Given the description of an element on the screen output the (x, y) to click on. 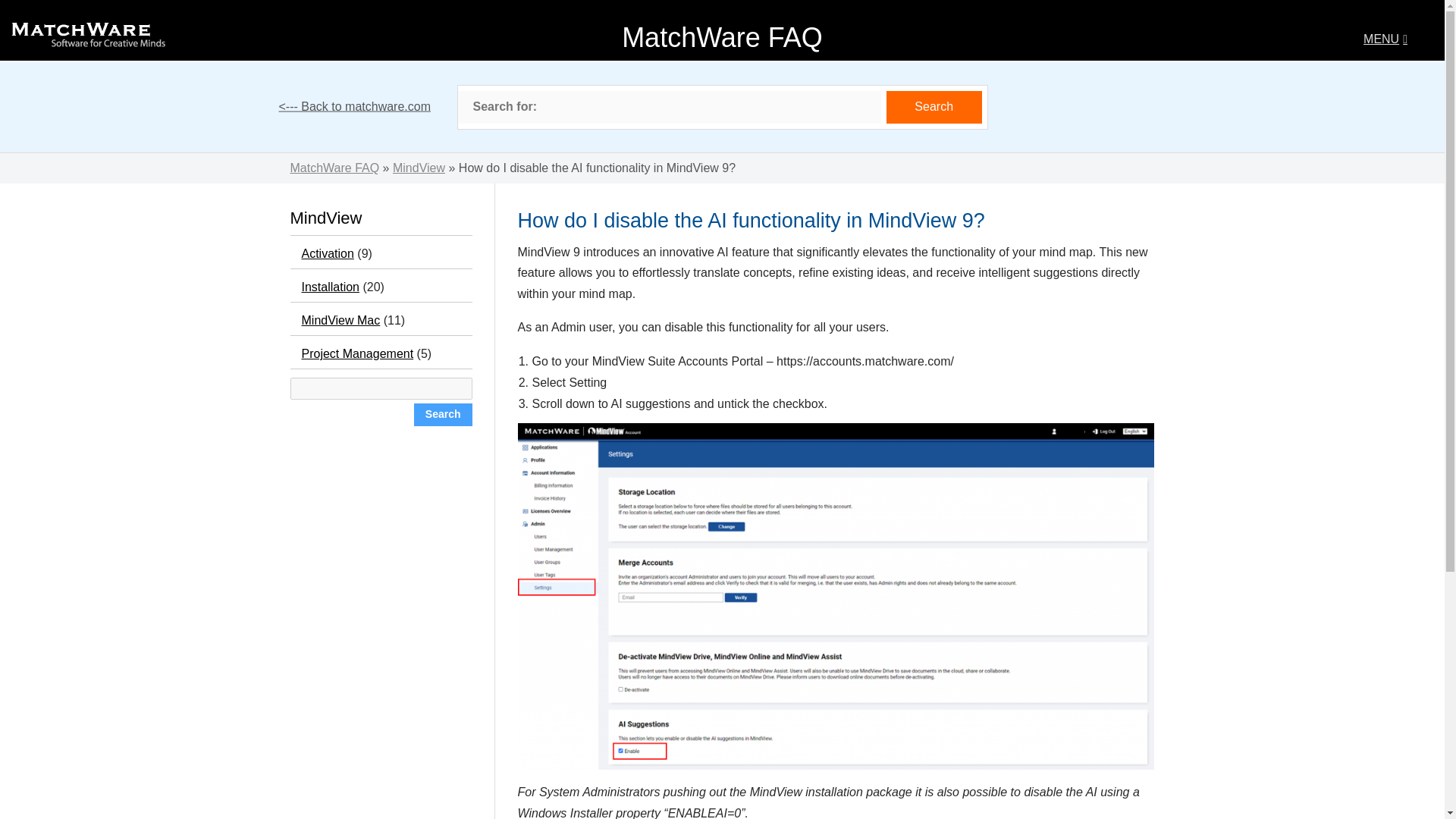
Search (933, 106)
MatchWare FAQ (333, 167)
MindView (419, 167)
MindView Mac (340, 319)
Search (442, 414)
Project Management (357, 353)
Activation (327, 253)
Search (933, 106)
Search (442, 414)
Search for: (669, 106)
